Given the description of an element on the screen output the (x, y) to click on. 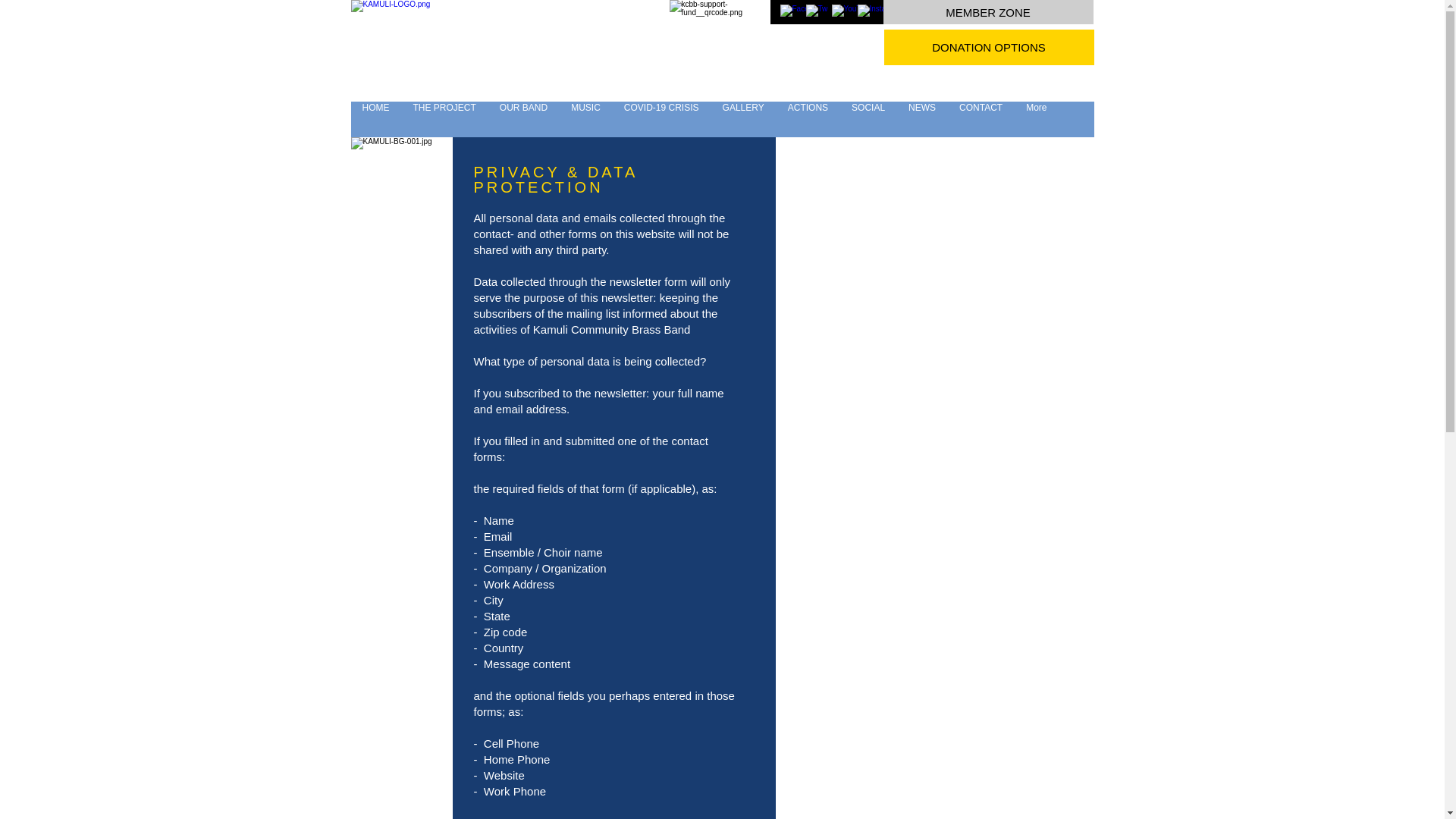
HOME (375, 119)
SOCIAL (868, 119)
MEMBER ZONE (987, 12)
OUR BAND (523, 119)
MUSIC (585, 119)
DONATION OPTIONS (988, 47)
GALLERY (743, 119)
THE PROJECT (443, 119)
CONTACT (980, 119)
ACTIONS (808, 119)
COVID-19 CRISIS (660, 119)
NEWS (921, 119)
